Given the description of an element on the screen output the (x, y) to click on. 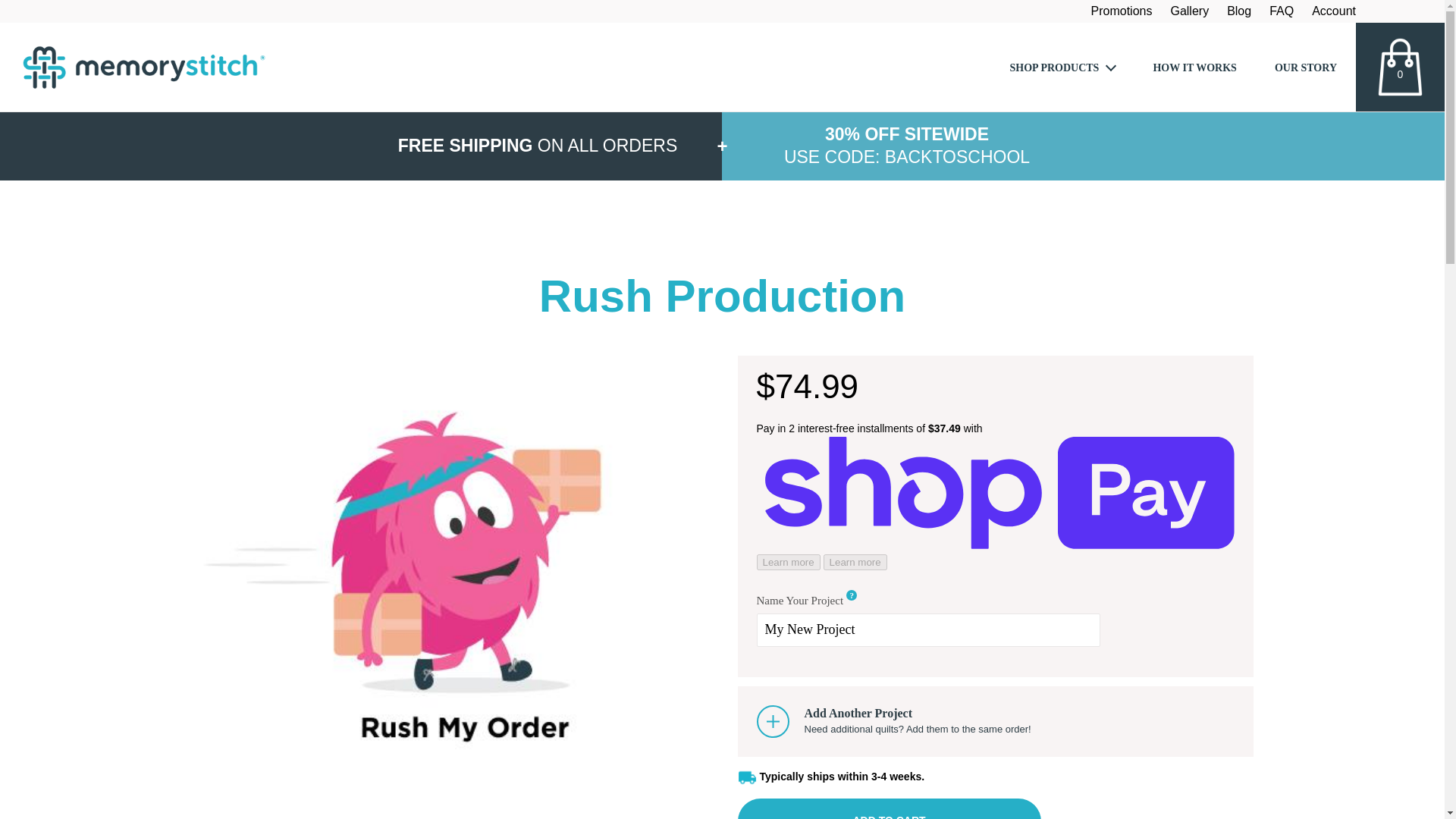
? (851, 594)
My New Project (928, 630)
SHOP PRODUCTS (1062, 66)
Promotions (1121, 10)
Gallery (1189, 10)
FAQ (1281, 10)
Account (1333, 10)
Blog (1238, 10)
